Given the description of an element on the screen output the (x, y) to click on. 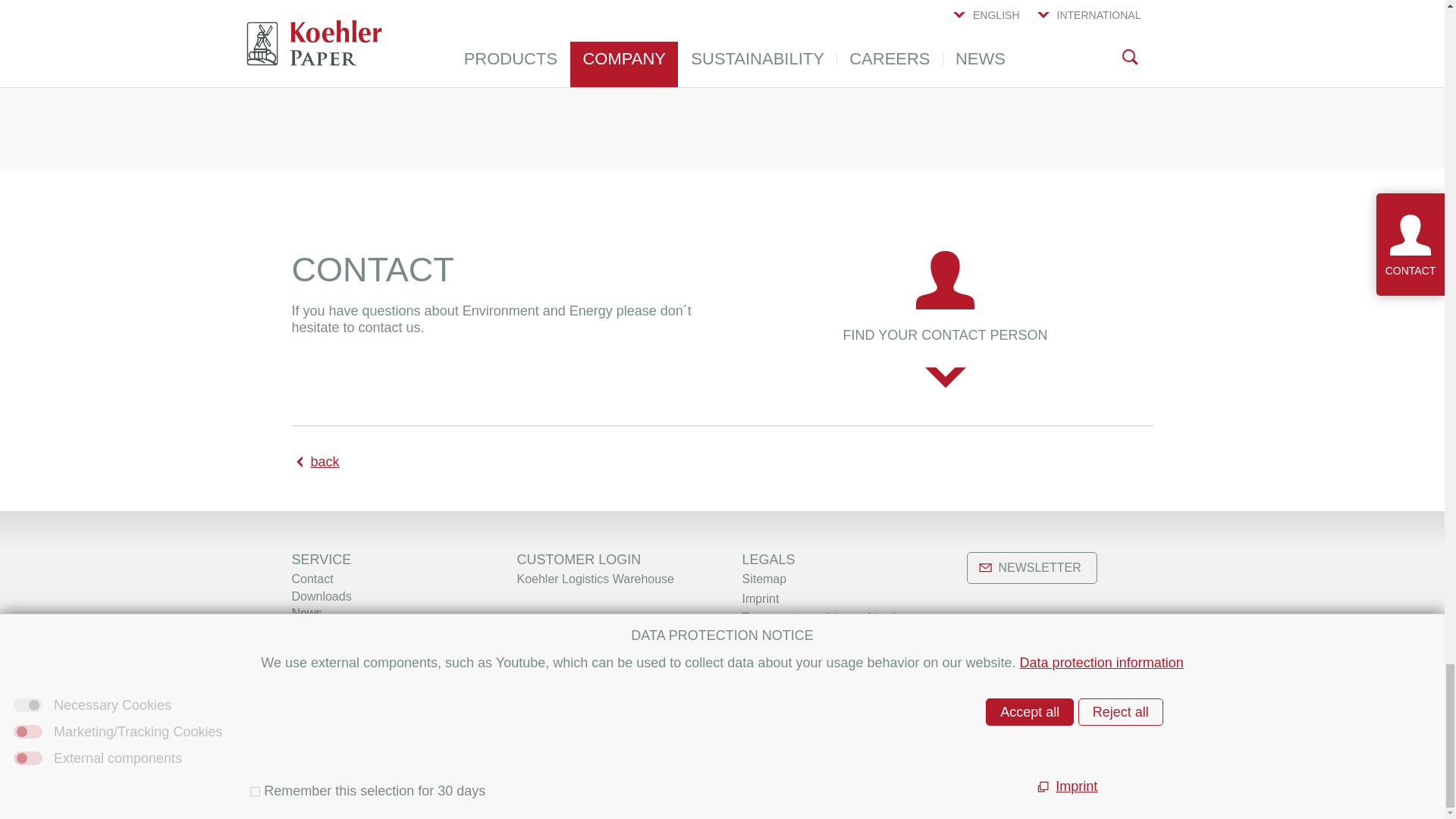
Information portal (338, 664)
Supplier information (344, 681)
Newsletter (320, 631)
News (306, 612)
Press area (320, 647)
